Given the description of an element on the screen output the (x, y) to click on. 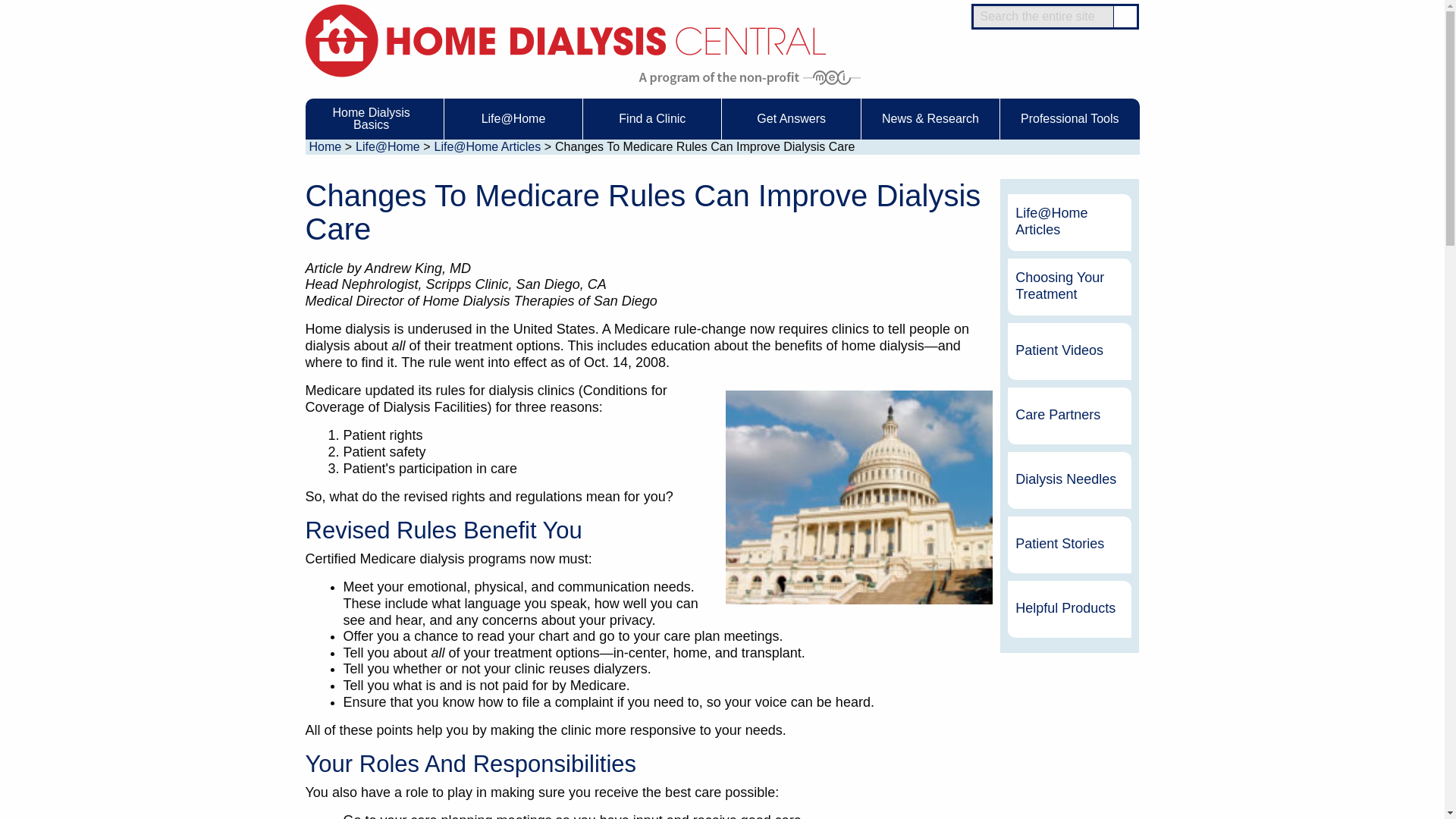
Search (1125, 16)
Go to the homepage (564, 39)
Home Dialysis Basics (373, 118)
Get Answers (791, 118)
Search (1125, 16)
Find a Clinic (652, 118)
